Given the description of an element on the screen output the (x, y) to click on. 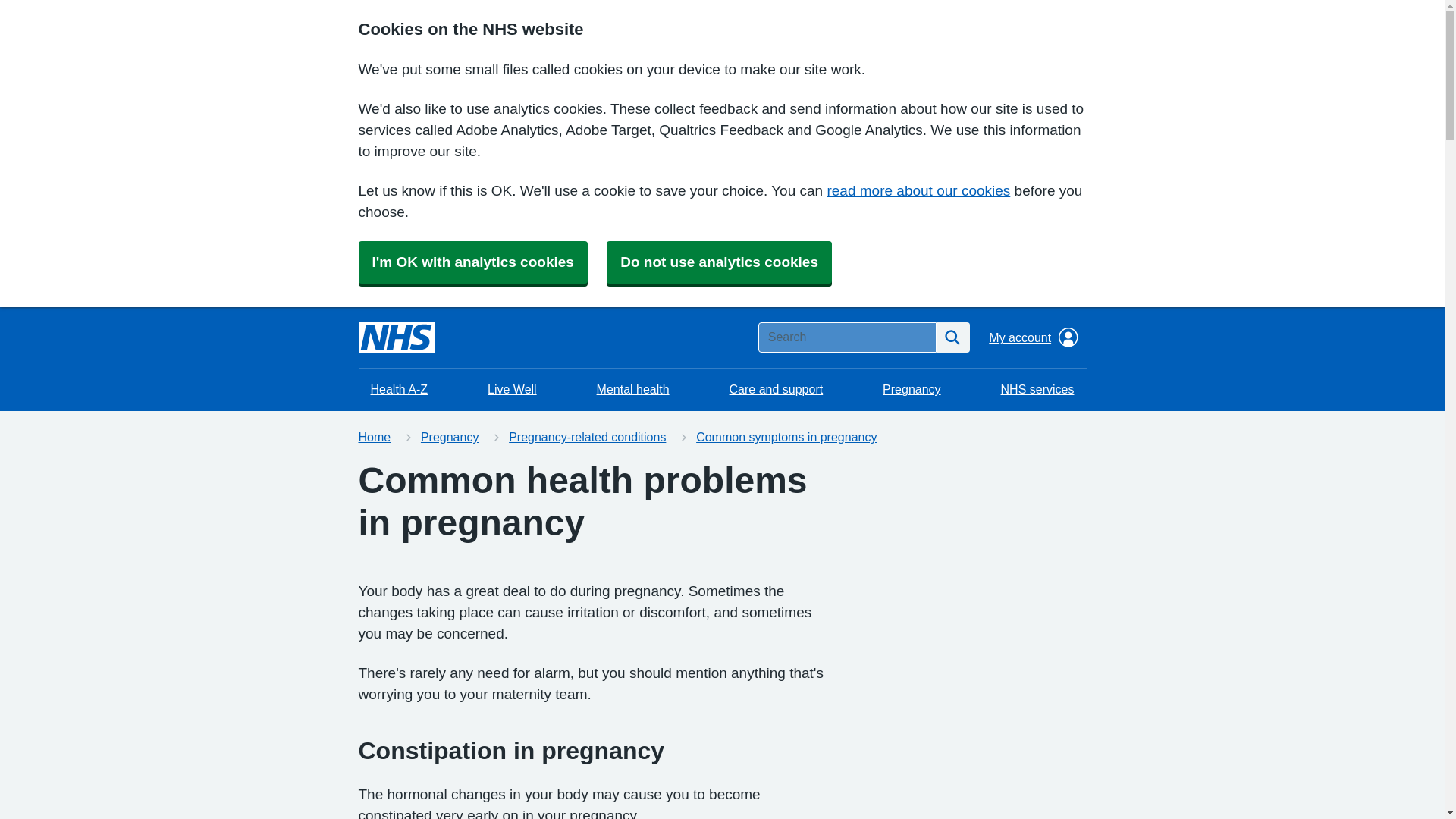
Care and support (776, 389)
Live Well (512, 389)
Health A-Z (398, 389)
Pregnancy (449, 436)
NHS services (1037, 389)
Do not use analytics cookies (719, 261)
read more about our cookies (918, 190)
My account (1032, 337)
Mental health (633, 389)
Home (374, 436)
